Given the description of an element on the screen output the (x, y) to click on. 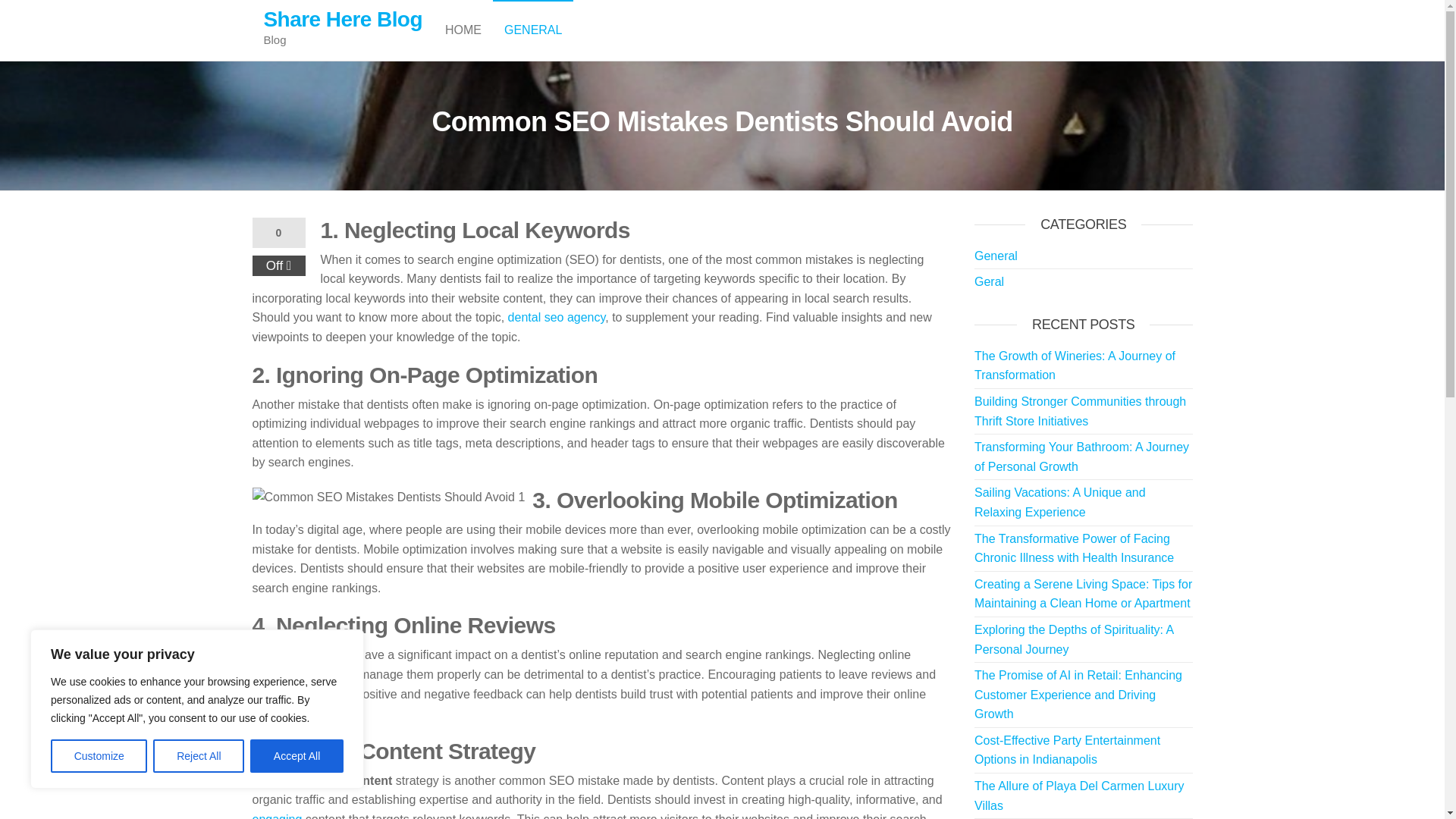
Share Here Blog (342, 19)
Accept All (296, 756)
Sailing Vacations: A Unique and Relaxing Experience (1059, 502)
Exploring the Depths of Spirituality: A Personal Journey (1073, 639)
General (533, 30)
Reject All (198, 756)
Home (463, 30)
GENERAL (533, 30)
